Given the description of an element on the screen output the (x, y) to click on. 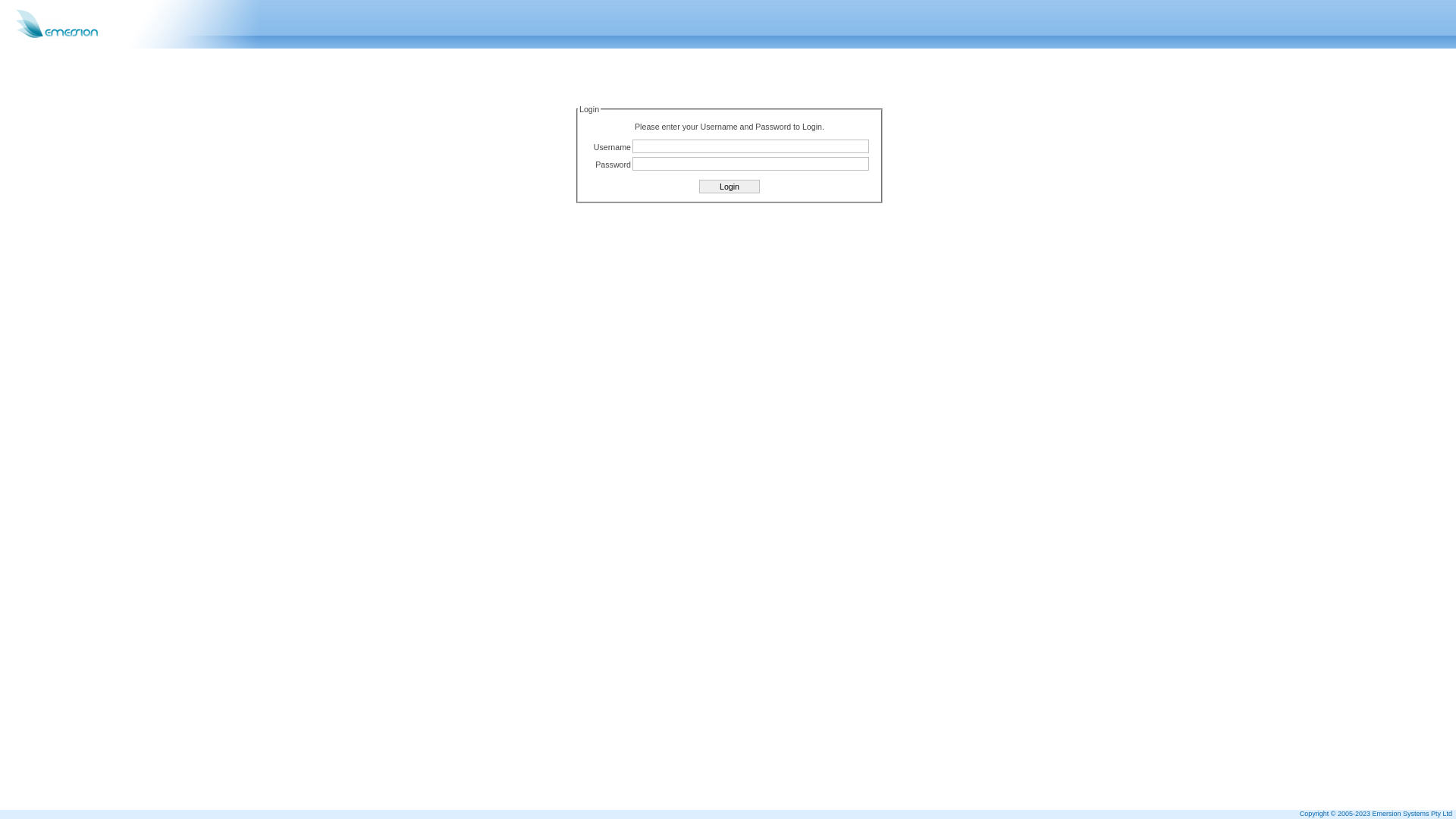
Login Element type: text (729, 186)
